Given the description of an element on the screen output the (x, y) to click on. 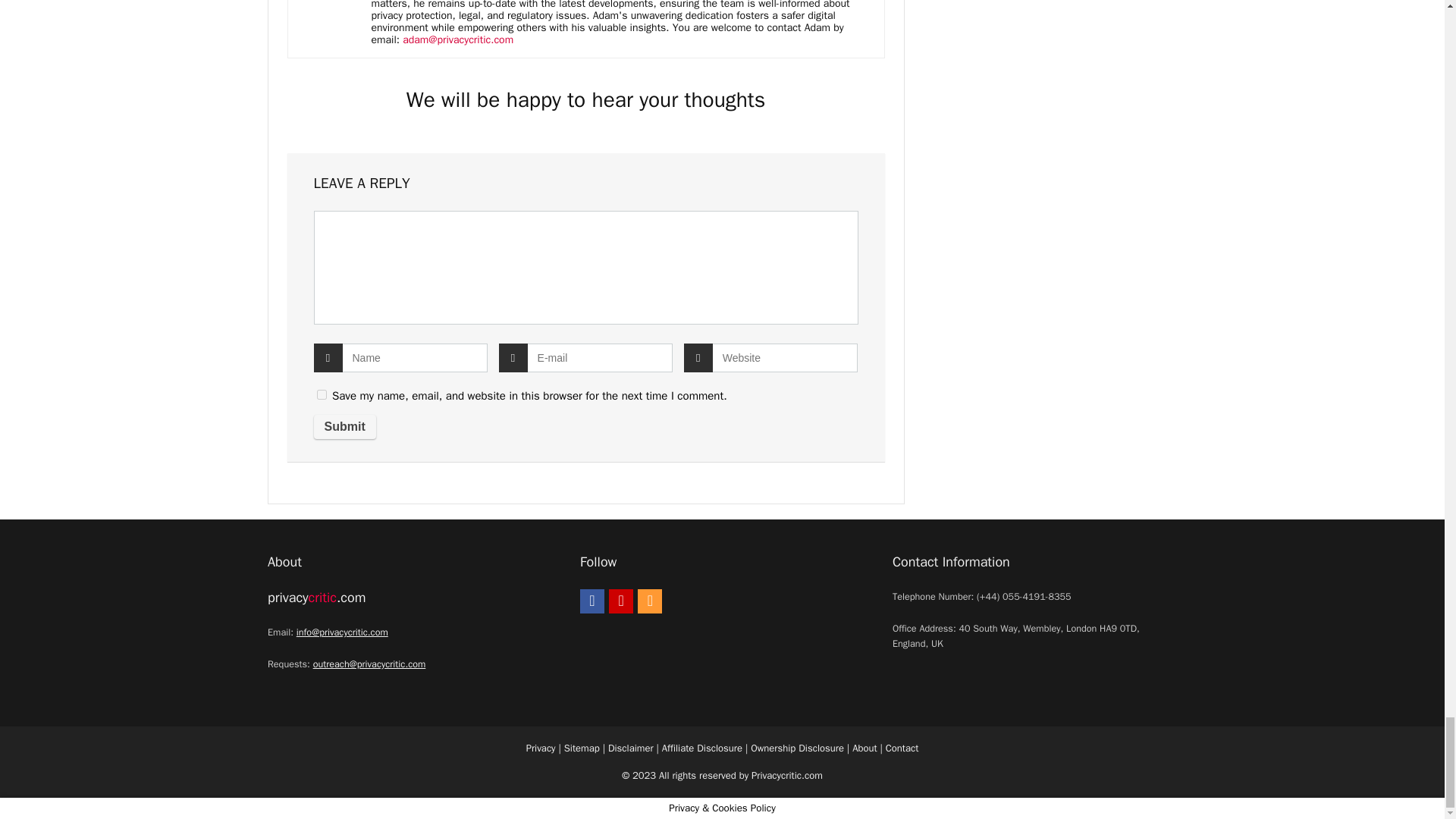
Submit (344, 426)
yes (321, 394)
